Given the description of an element on the screen output the (x, y) to click on. 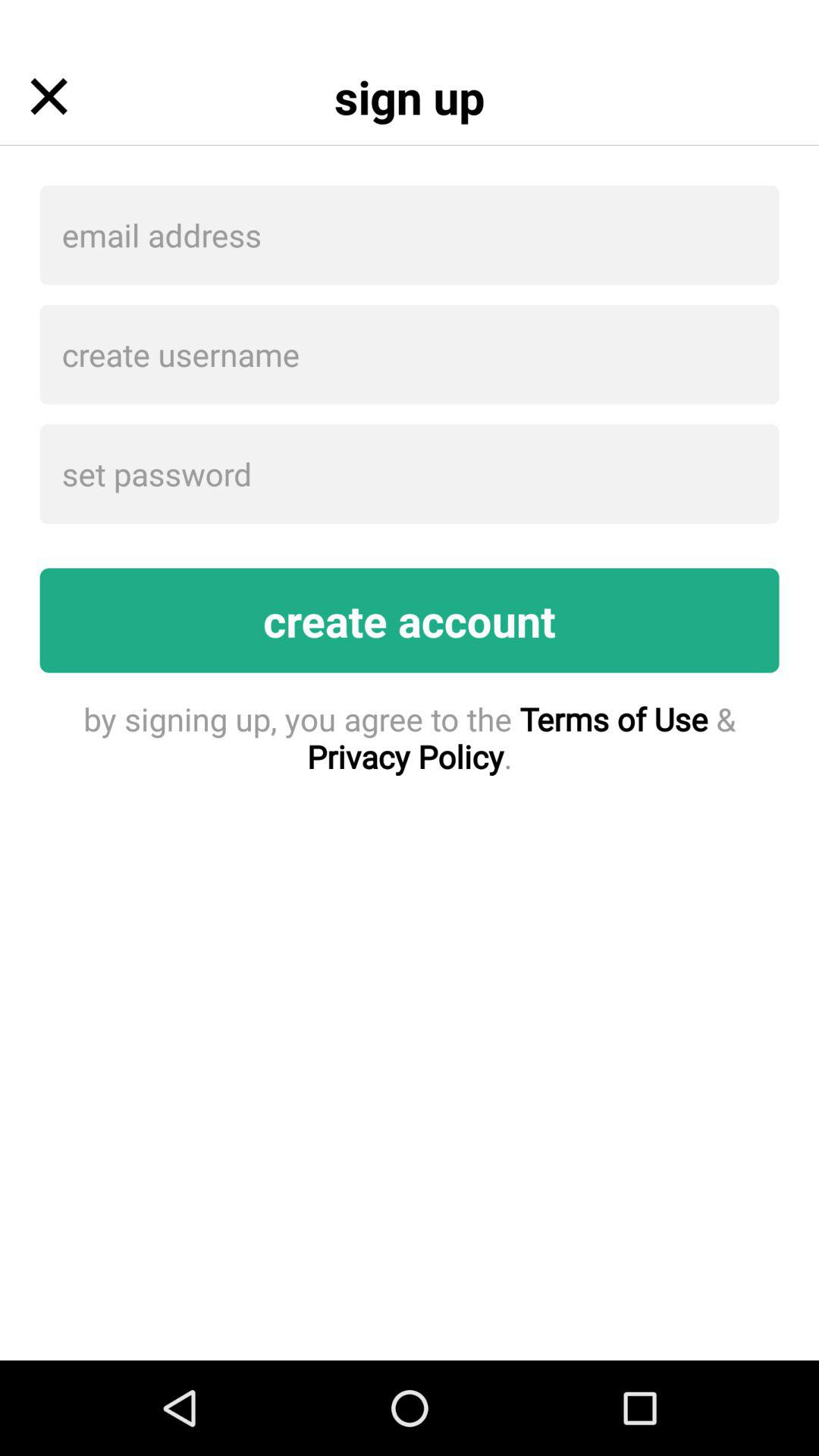
launch by signing up icon (409, 737)
